Given the description of an element on the screen output the (x, y) to click on. 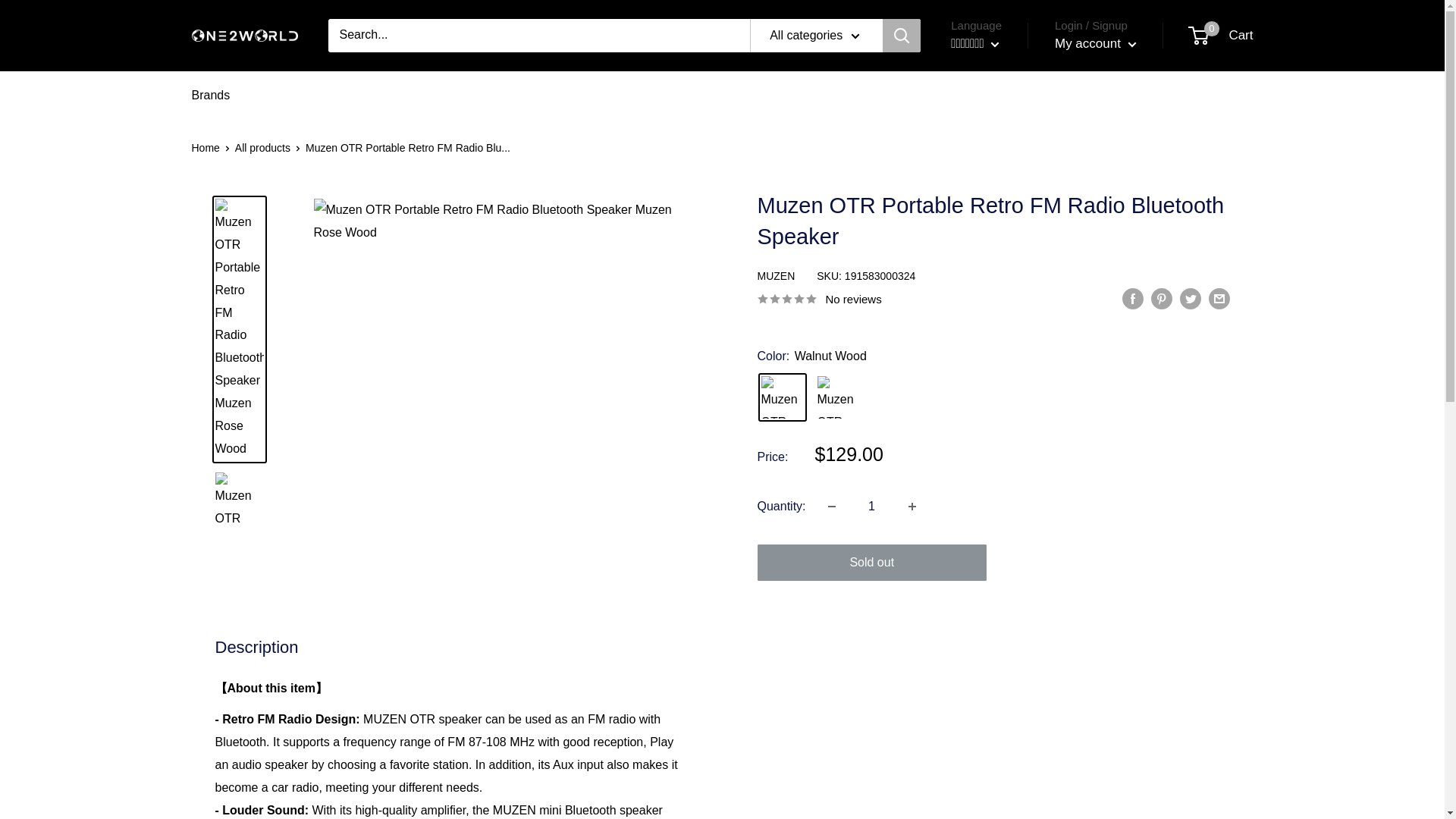
ONE2WORLD (243, 35)
en (978, 87)
ms (978, 134)
Home (204, 147)
Brands (210, 95)
All products (261, 147)
Rose Wood (838, 397)
My account (1095, 43)
1 (1221, 35)
Decrease quantity by 1 (871, 506)
Walnut Wood (831, 506)
Increase quantity by 1 (782, 397)
id (912, 506)
th (978, 110)
